Given the description of an element on the screen output the (x, y) to click on. 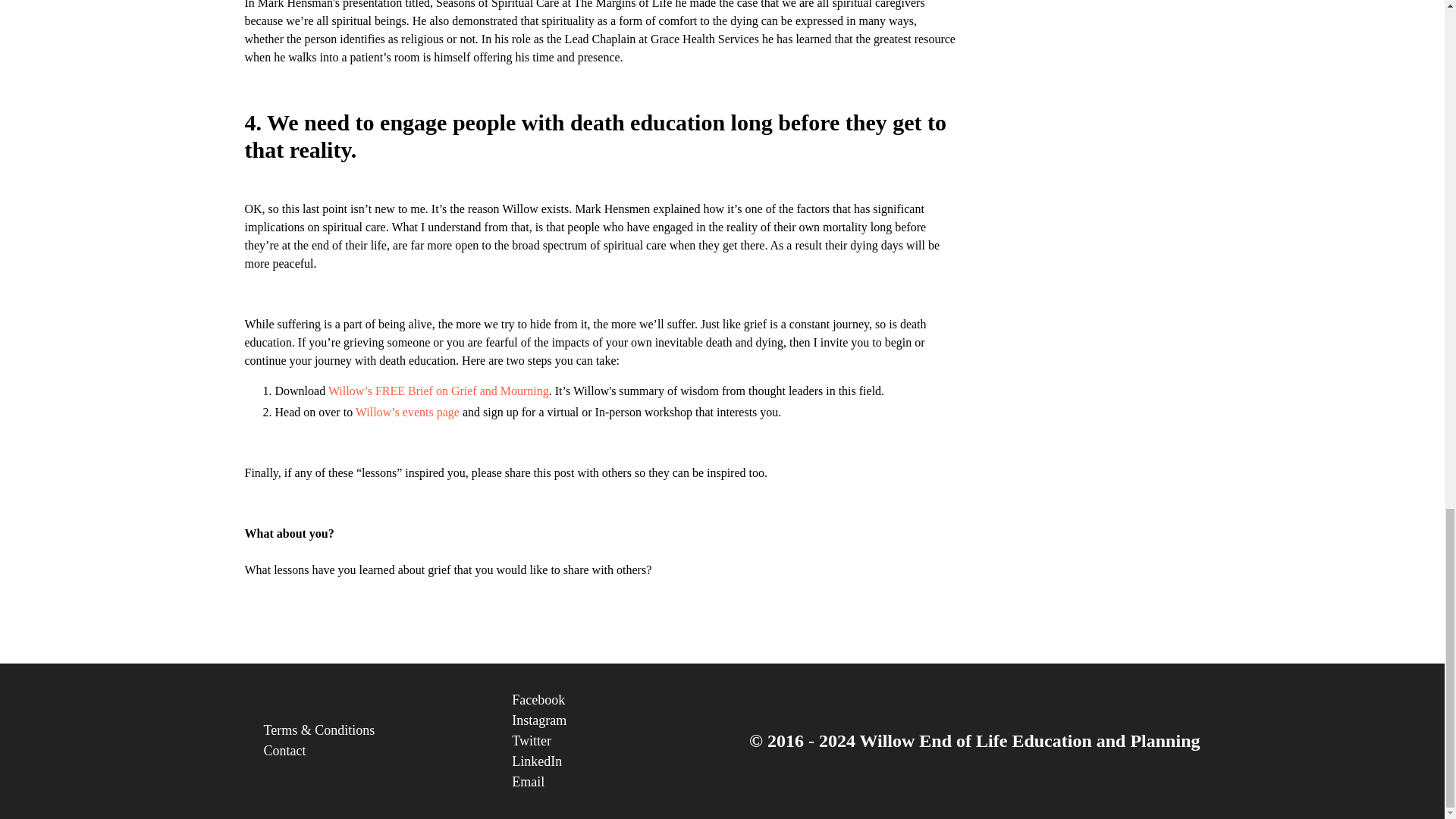
Instagram (617, 720)
Email (617, 782)
Twitter (617, 741)
Facebook (617, 700)
Contact (368, 751)
LinkedIn (617, 761)
